Given the description of an element on the screen output the (x, y) to click on. 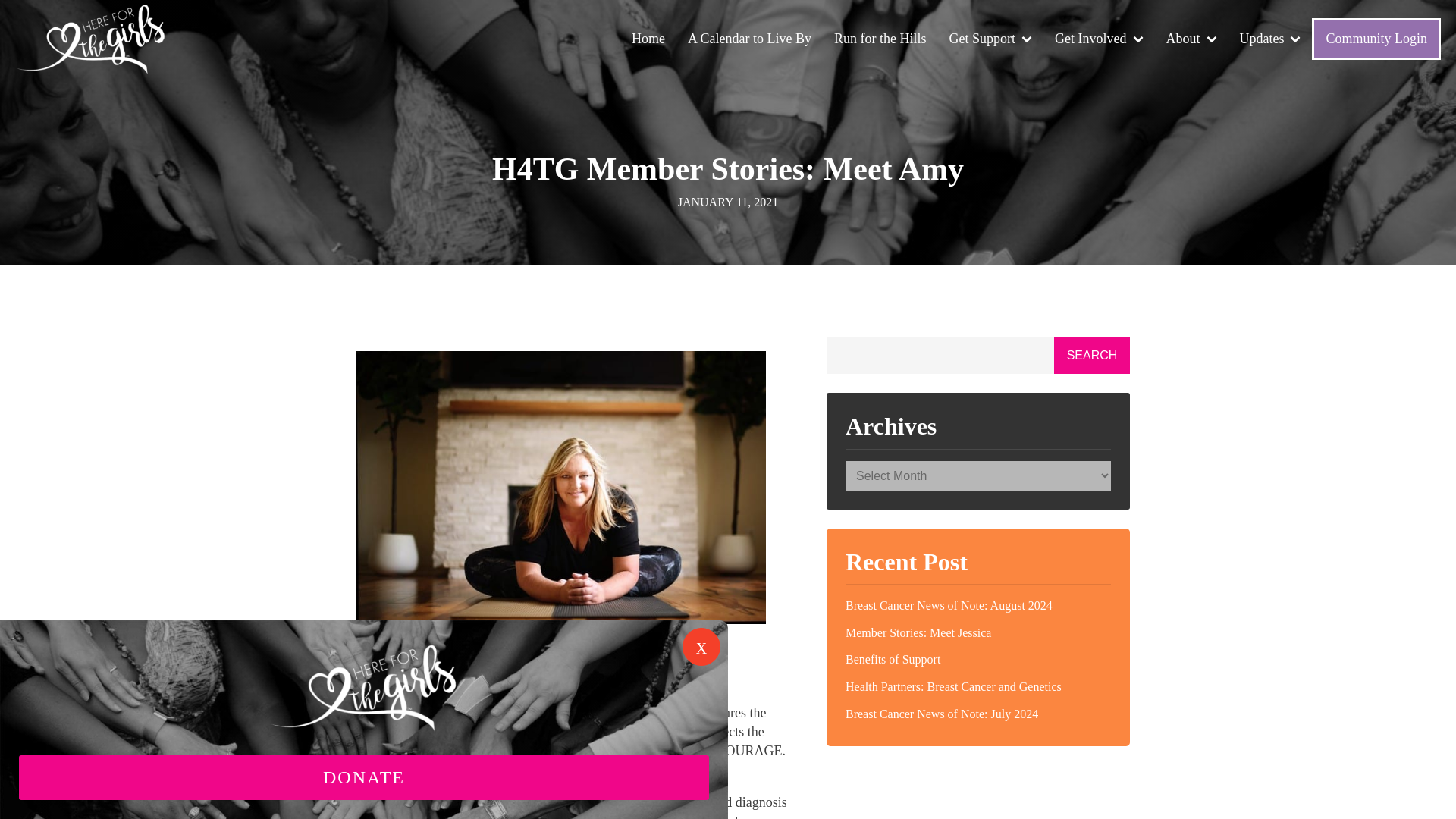
Here For The Girls (90, 38)
Get Support (990, 38)
Get Support (990, 38)
Community Login (1376, 38)
A Calendar to Live By (749, 38)
Breast Cancer News of Note: August 2024 (977, 605)
Health Partners: Breast Cancer and Genetics (977, 687)
Breast Cancer News of Note: July 2024 (977, 714)
Member Stories: Meet Jessica (977, 633)
Search (1091, 355)
